Given the description of an element on the screen output the (x, y) to click on. 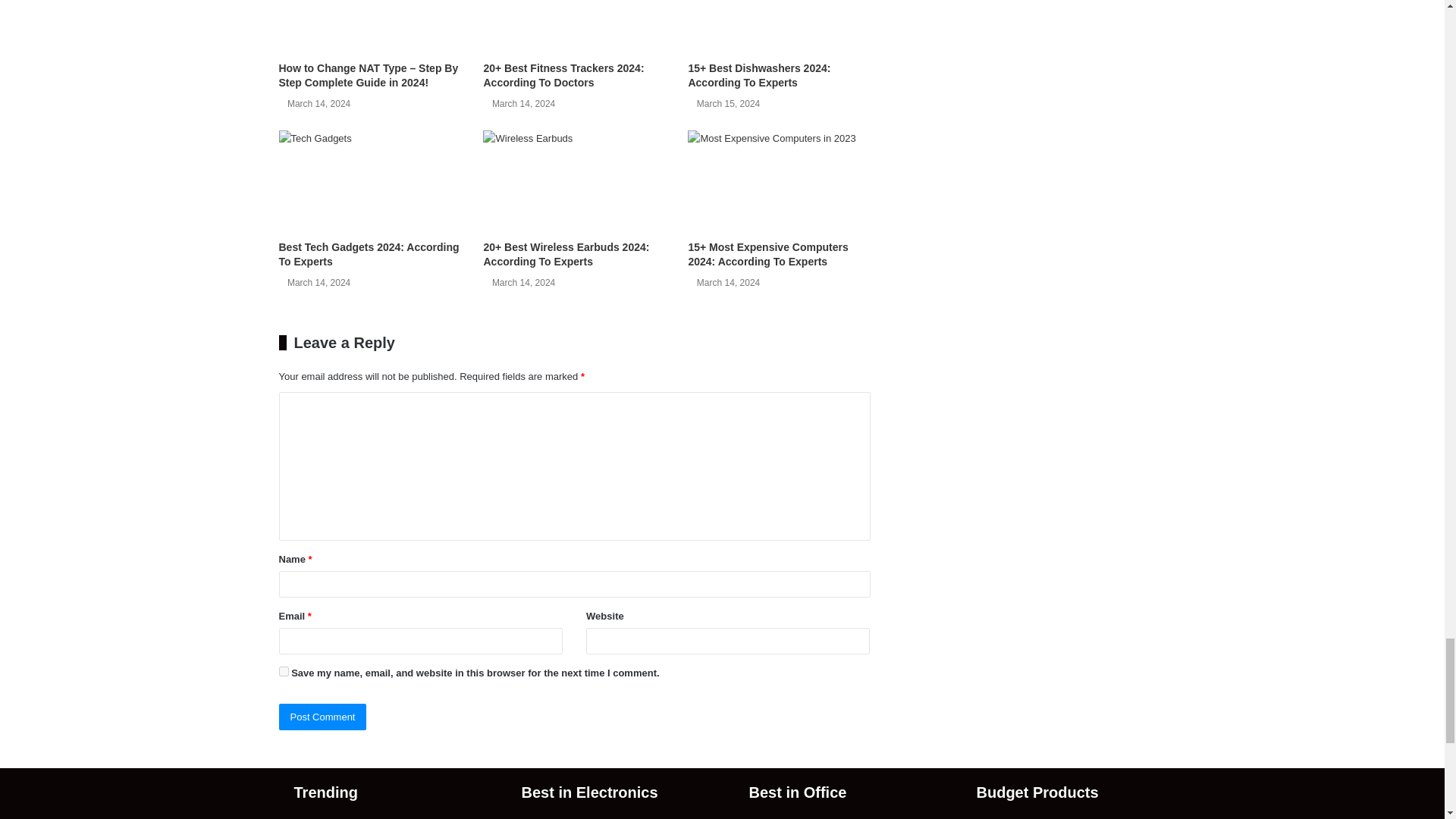
Post Comment (322, 716)
yes (283, 671)
Best Tech Gadgets 2024: According To Experts (369, 253)
Post Comment (322, 716)
